Given the description of an element on the screen output the (x, y) to click on. 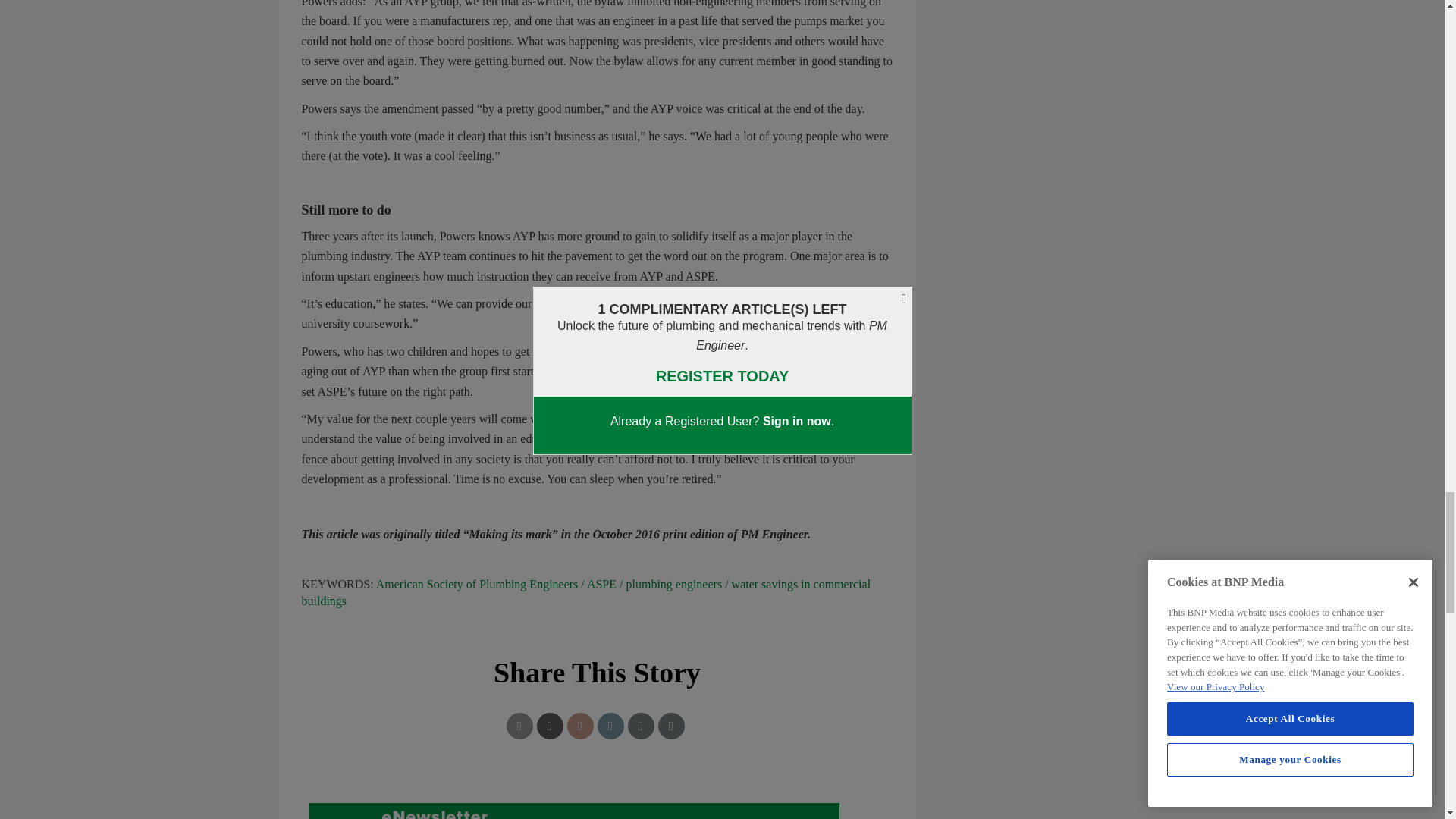
Interaction questions (597, 803)
